Given the description of an element on the screen output the (x, y) to click on. 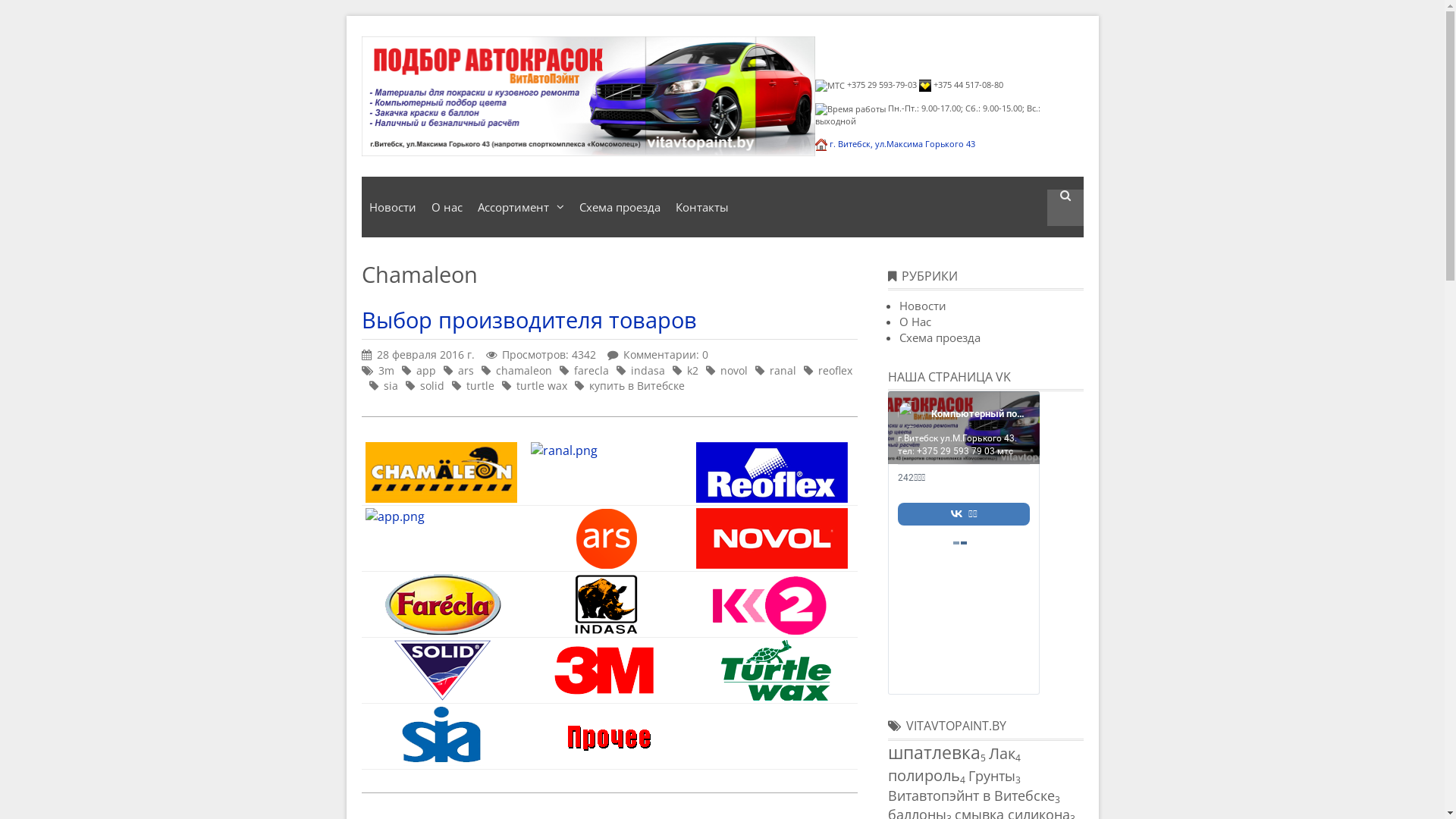
farecla.png Element type: hover (441, 604)
reoflex.png Element type: hover (771, 472)
novol.png Element type: hover (771, 538)
3m Element type: text (385, 370)
k2.png Element type: hover (771, 604)
indasa.png Element type: hover (606, 604)
solid.png Element type: hover (441, 670)
indasa Element type: text (647, 370)
ars.png Element type: hover (606, 538)
sia.png Element type: hover (441, 736)
reoflex Element type: text (834, 370)
farecla Element type: text (590, 370)
turtle.png Element type: hover (771, 670)
turtle wax Element type: text (540, 385)
zm.png Element type: hover (606, 670)
turtle Element type: text (479, 385)
chamaleon.png Element type: hover (441, 472)
ranal.png Element type: hover (563, 450)
solid Element type: text (432, 385)
novol Element type: text (733, 370)
app.png Element type: hover (394, 516)
sia Element type: text (390, 385)
other.png Element type: hover (606, 736)
chamaleon Element type: text (523, 370)
k2 Element type: text (692, 370)
ranal Element type: text (781, 370)
ars Element type: text (465, 370)
app Element type: text (425, 370)
